Given the description of an element on the screen output the (x, y) to click on. 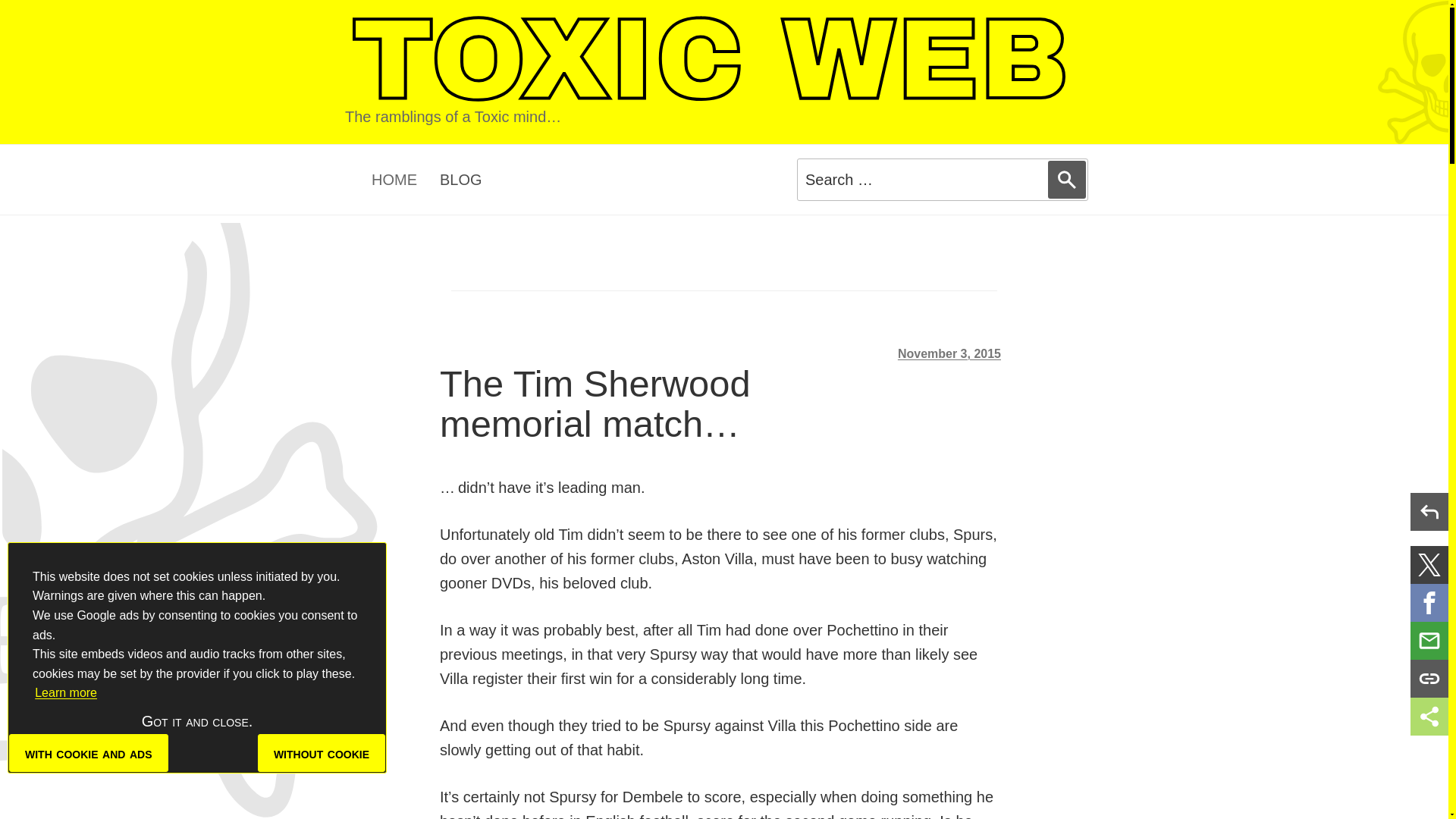
Toxic Web (709, 59)
BLOG (460, 179)
Search (1067, 179)
November 3, 2015 (949, 353)
Toxic Web (709, 59)
HOME (393, 179)
